Given the description of an element on the screen output the (x, y) to click on. 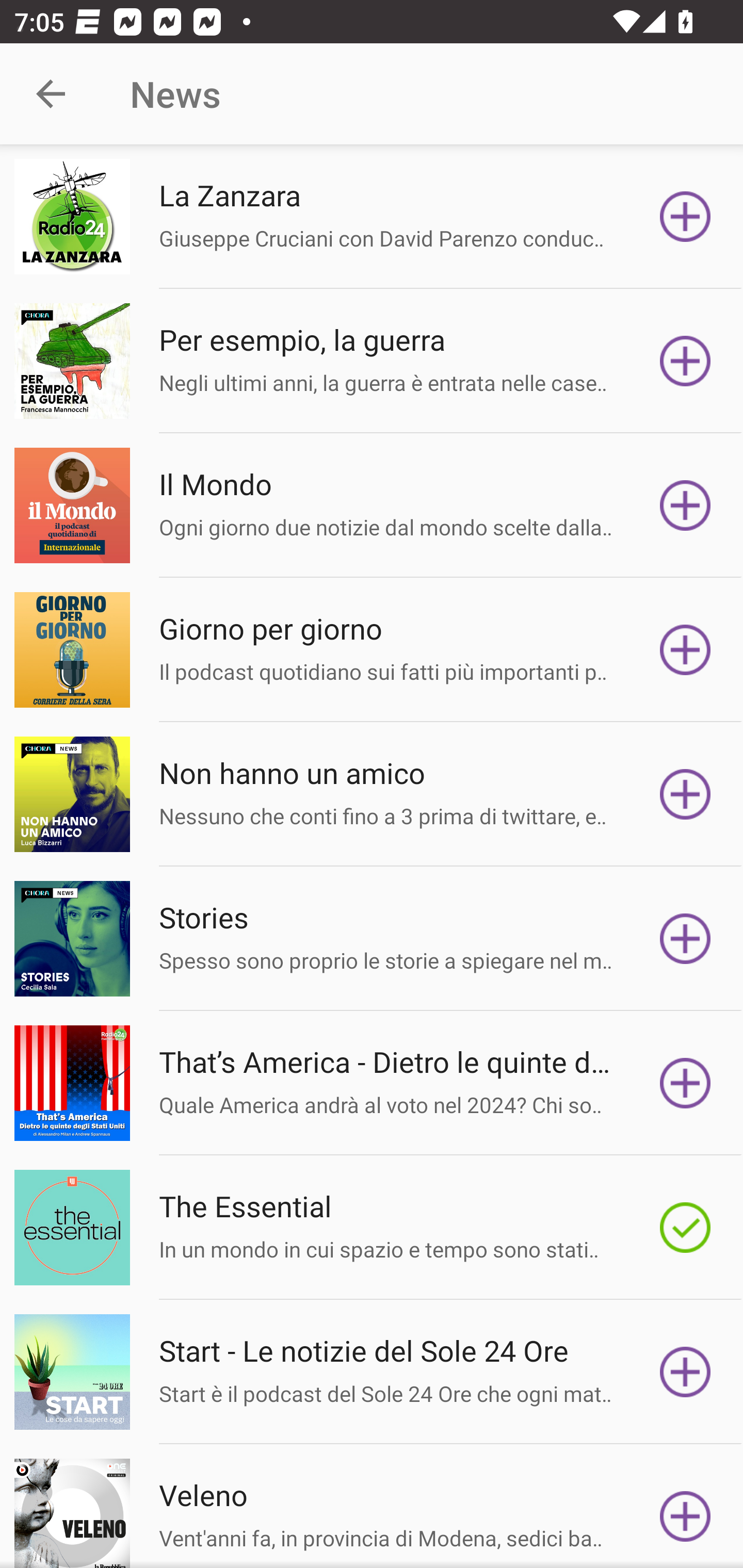
Navigate up (50, 93)
Subscribe (685, 216)
Subscribe (685, 360)
Subscribe (685, 505)
Subscribe (685, 649)
Subscribe (685, 793)
Subscribe (685, 939)
Subscribe (685, 1083)
Subscribe (685, 1227)
Subscribe (685, 1371)
Subscribe (685, 1513)
